Given the description of an element on the screen output the (x, y) to click on. 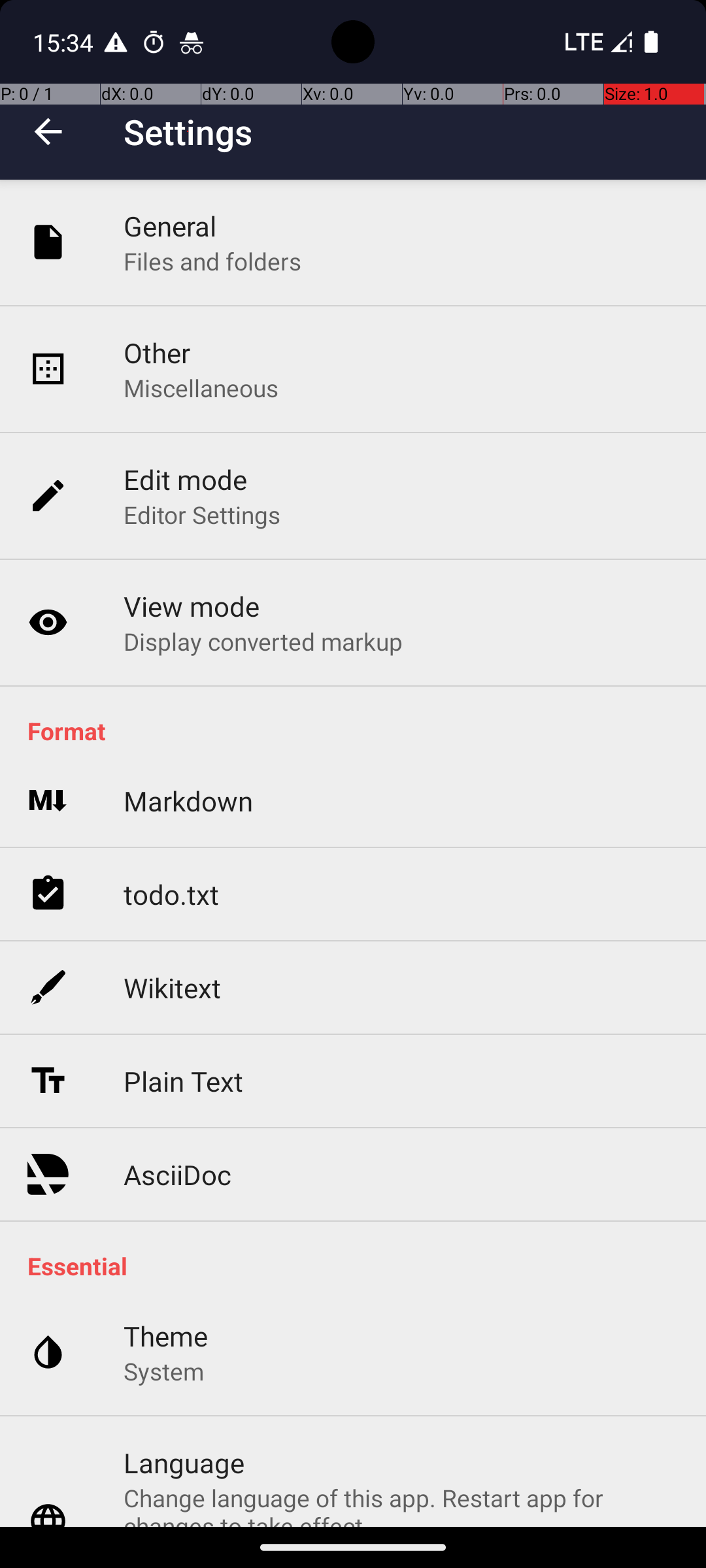
Essential Element type: android.widget.TextView (359, 1265)
General Element type: android.widget.TextView (170, 225)
Files and folders Element type: android.widget.TextView (212, 260)
Other Element type: android.widget.TextView (156, 352)
Miscellaneous Element type: android.widget.TextView (200, 387)
Editor Settings Element type: android.widget.TextView (202, 514)
Display converted markup Element type: android.widget.TextView (263, 640)
Theme Element type: android.widget.TextView (165, 1335)
System Element type: android.widget.TextView (163, 1370)
Language Element type: android.widget.TextView (183, 1462)
Change language of this app. Restart app for changes to take effect

English (English, United States) Element type: android.widget.TextView (400, 1503)
